Given the description of an element on the screen output the (x, y) to click on. 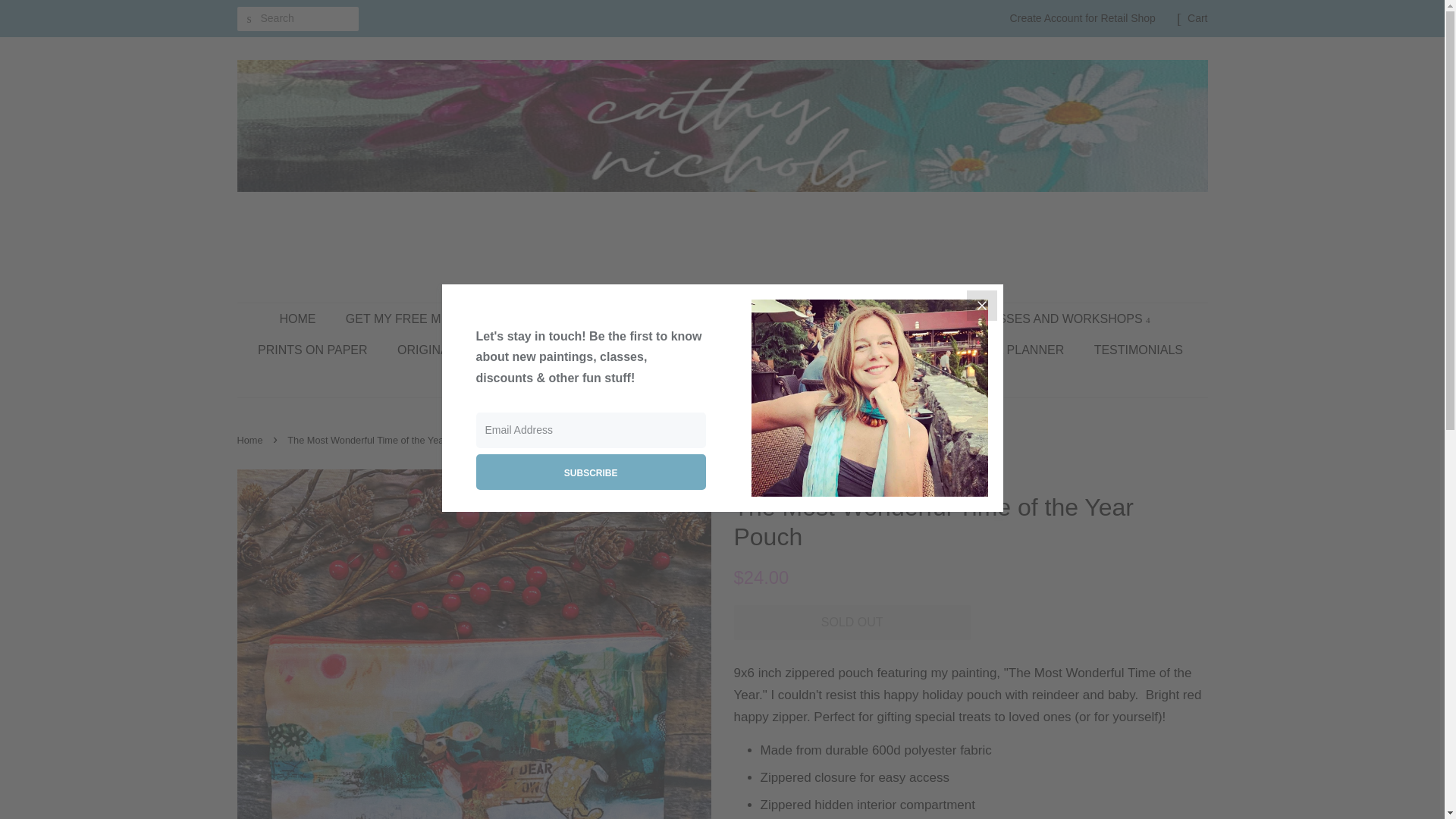
Create Account for Retail Shop (1083, 18)
Back to the frontpage (250, 439)
SEARCH (247, 18)
Cart (1197, 18)
